Given the description of an element on the screen output the (x, y) to click on. 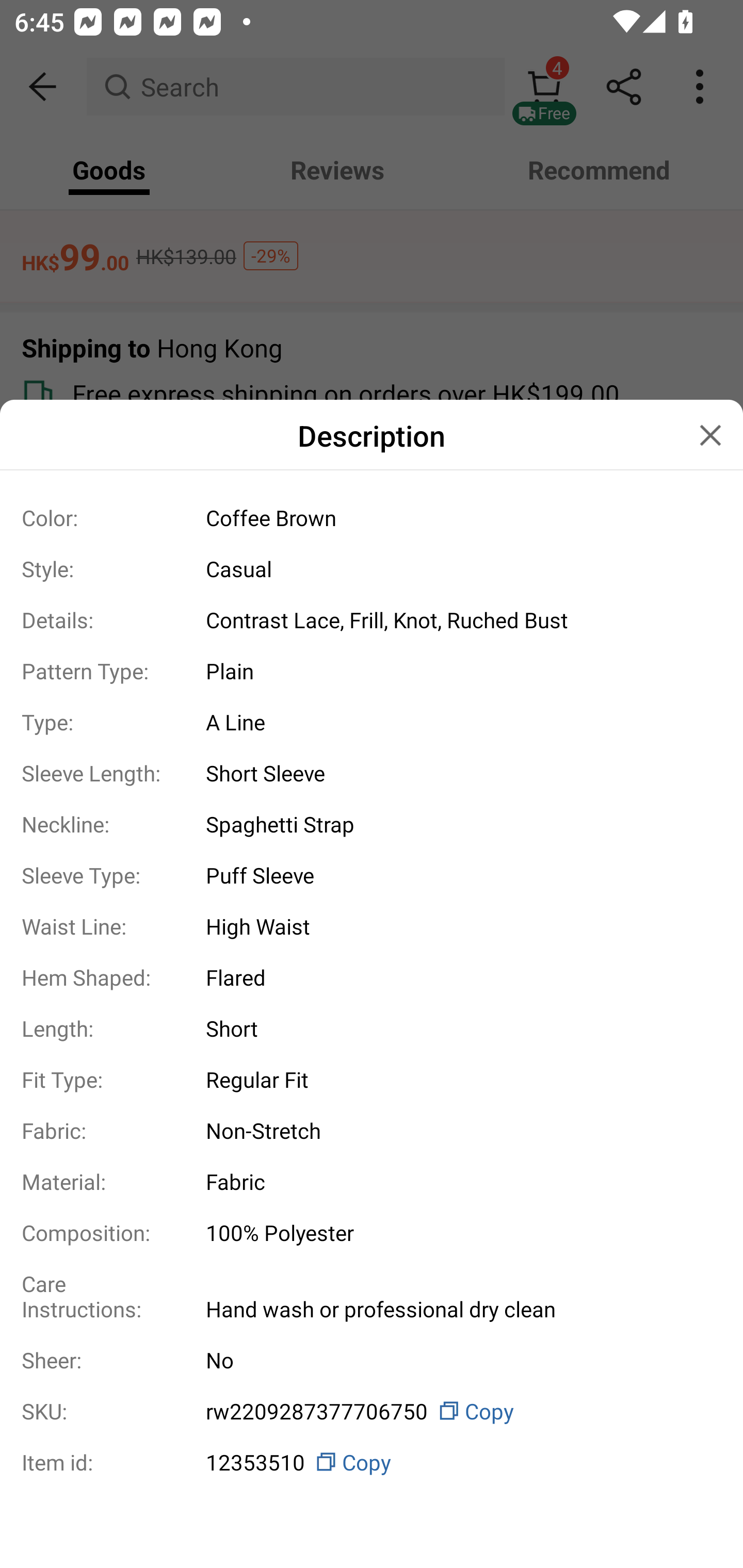
Close (710, 435)
Color: Coffee Brown (371, 517)
Coffee Brown (455, 517)
Style: Casual (371, 568)
Casual (455, 568)
Details: Contrast Lace, Frill, Knot, Ruched Bust (371, 620)
Contrast Lace, Frill, Knot, Ruched Bust (455, 620)
Pattern Type: Plain (371, 671)
Plain (455, 670)
Type: A Line (371, 721)
A Line (455, 721)
Sleeve Length: Short Sleeve (371, 772)
Short Sleeve (455, 772)
Neckline: Spaghetti Strap (371, 823)
Spaghetti Strap (455, 823)
Sleeve Type: Puff Sleeve (371, 874)
Puff Sleeve (455, 874)
Waist Line: High Waist (371, 925)
High Waist (455, 925)
Hem Shaped: Flared (371, 976)
Flared (455, 977)
Length: Short (371, 1027)
Short (455, 1027)
Fit Type: Regular Fit (371, 1079)
Regular Fit (455, 1079)
Fabric: Non-Stretch (371, 1130)
Non-Stretch (455, 1130)
Material: Fabric (371, 1181)
Fabric (455, 1181)
Composition: 100% Polyester (371, 1232)
100% Polyester (455, 1232)
Hand wash or professional dry clean (455, 1308)
Sheer: No (371, 1360)
No (455, 1360)
SKU: rw2209287377706750    Copy (371, 1411)
rw2209287377706750    Copy (455, 1410)
Item id: 12353510    Copy (371, 1458)
12353510    Copy (455, 1462)
